Given the description of an element on the screen output the (x, y) to click on. 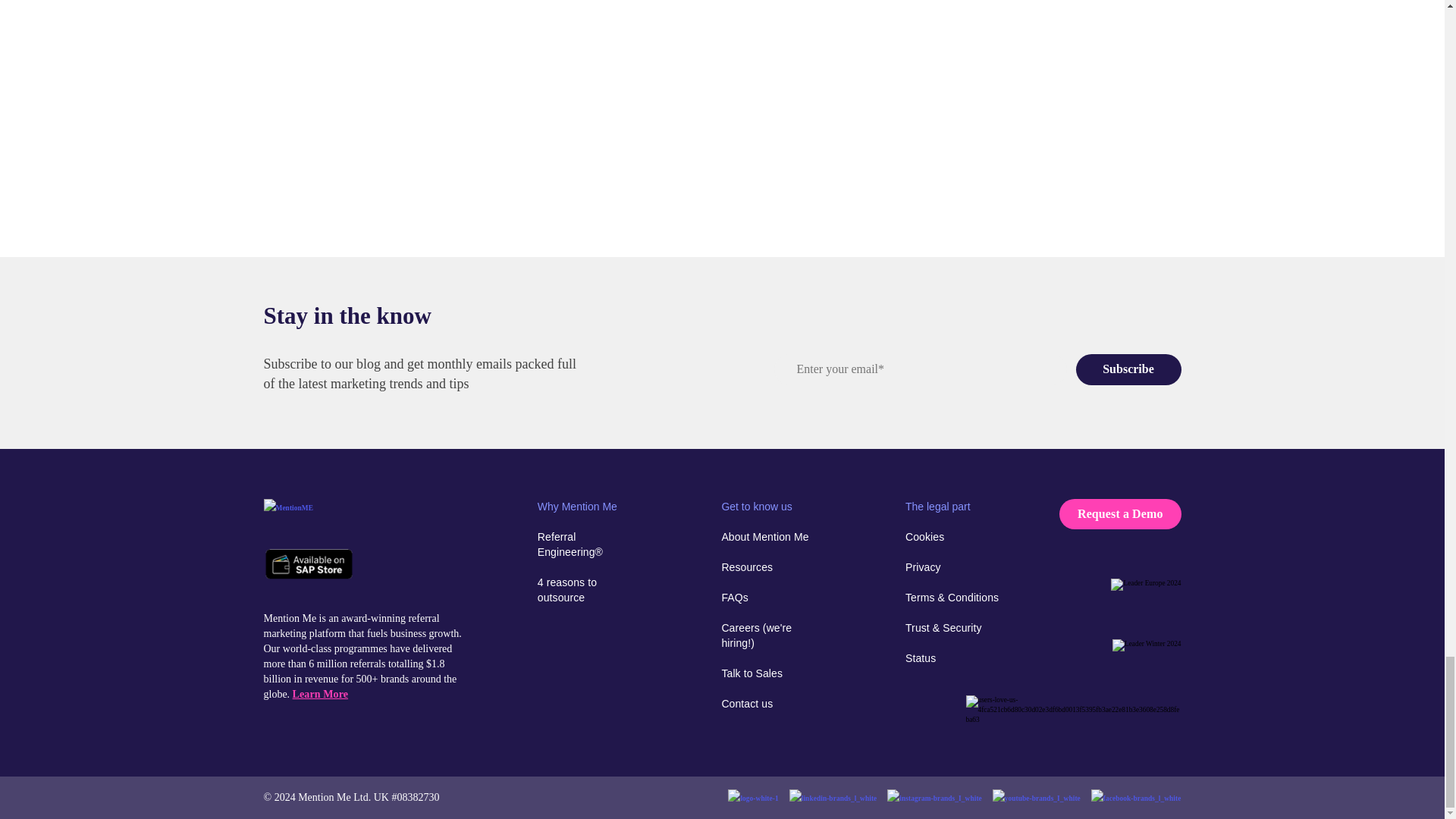
Request a Demo (1119, 513)
Subscribe (1127, 368)
